Given the description of an element on the screen output the (x, y) to click on. 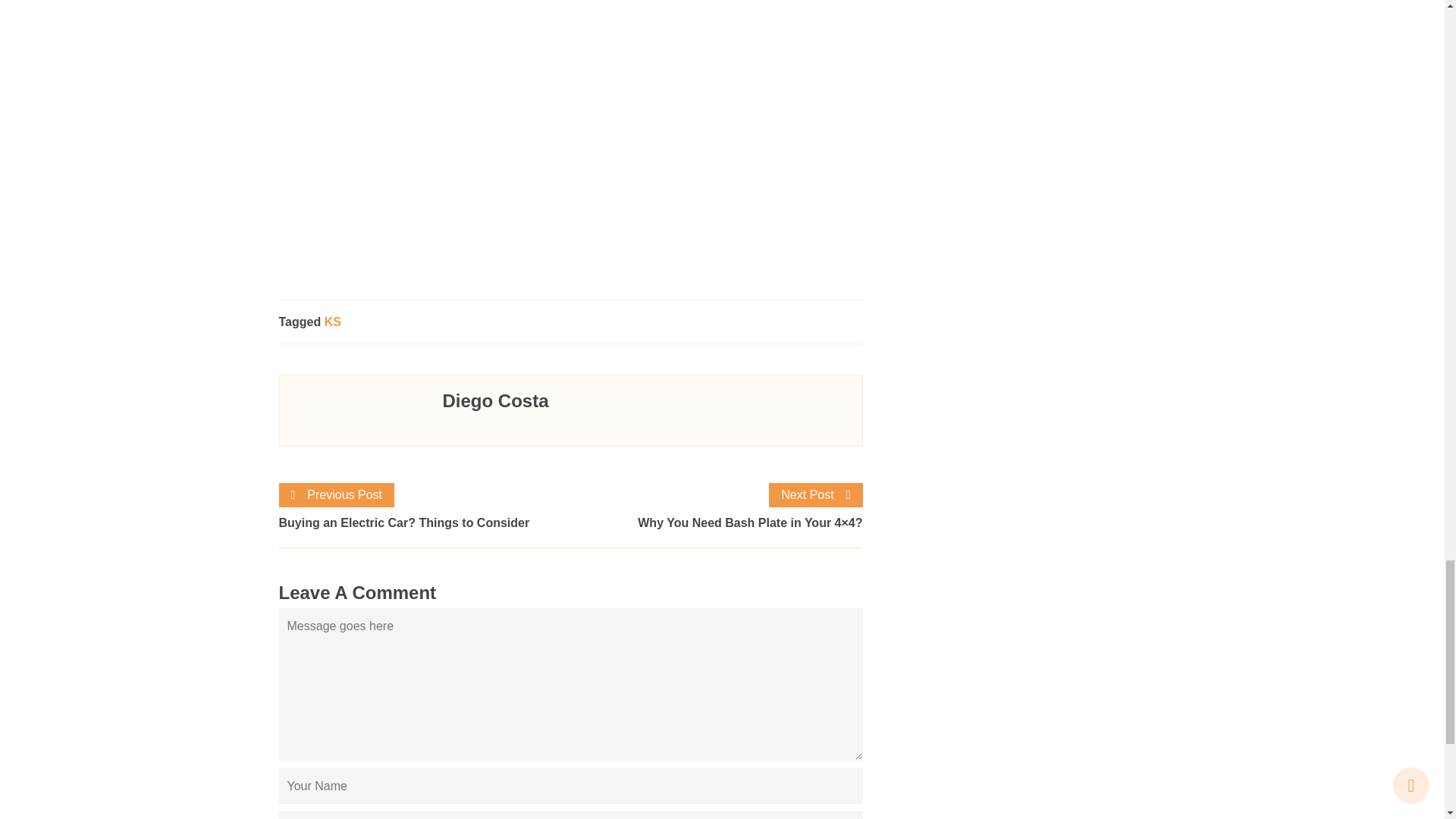
How To Choose Mr. Gasket Automotive Hose (521, 150)
KS (332, 321)
Buying an Electric Car? Things to Consider (424, 523)
